Given the description of an element on the screen output the (x, y) to click on. 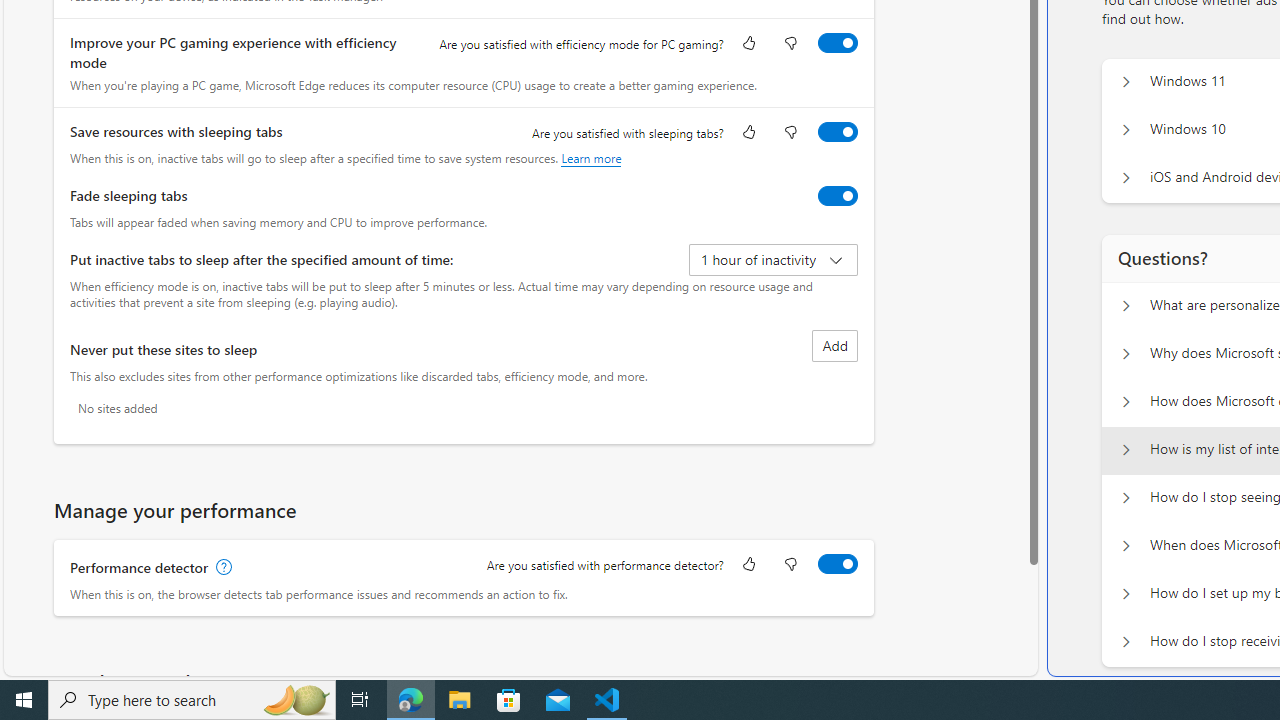
Questions? How does Microsoft deliver personalized ads? (1125, 401)
Manage personalized ads on your device Windows 10 (1125, 129)
Performance detector (837, 563)
Improve your PC gaming experience with efficiency mode (837, 43)
Questions? What are personalized ads? (1125, 306)
Add site to never put these sites to sleep list (834, 345)
Learn more (591, 158)
Save resources with sleeping tabs (837, 131)
Questions? How is my list of interests populated? (1125, 450)
Fade sleeping tabs (837, 195)
